Given the description of an element on the screen output the (x, y) to click on. 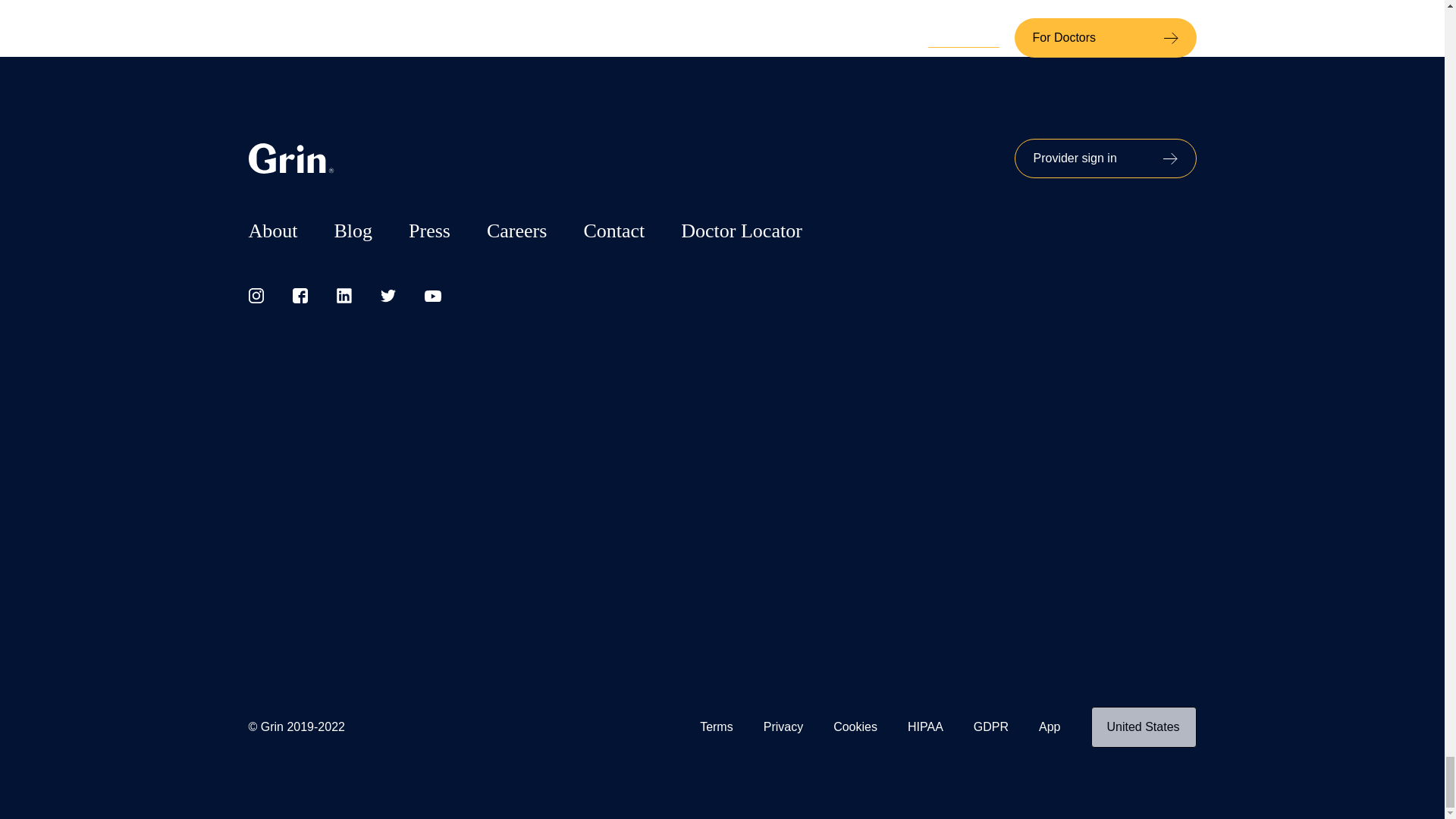
About (273, 230)
About (273, 230)
Provider sign in (1105, 158)
